Given the description of an element on the screen output the (x, y) to click on. 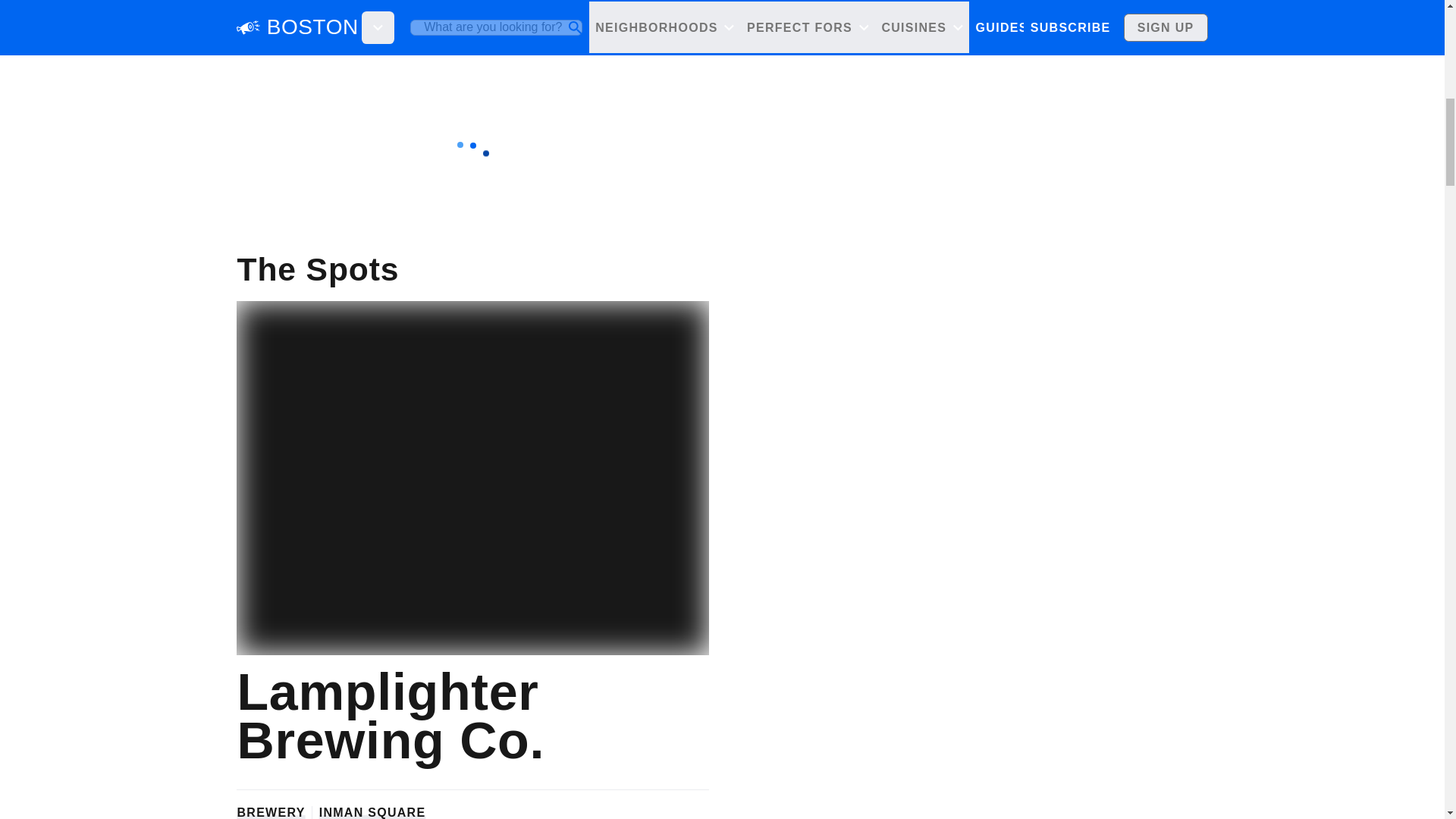
Lamplighter Brewing Co. (472, 715)
INMAN SQUARE (372, 811)
BREWERY (269, 811)
